Given the description of an element on the screen output the (x, y) to click on. 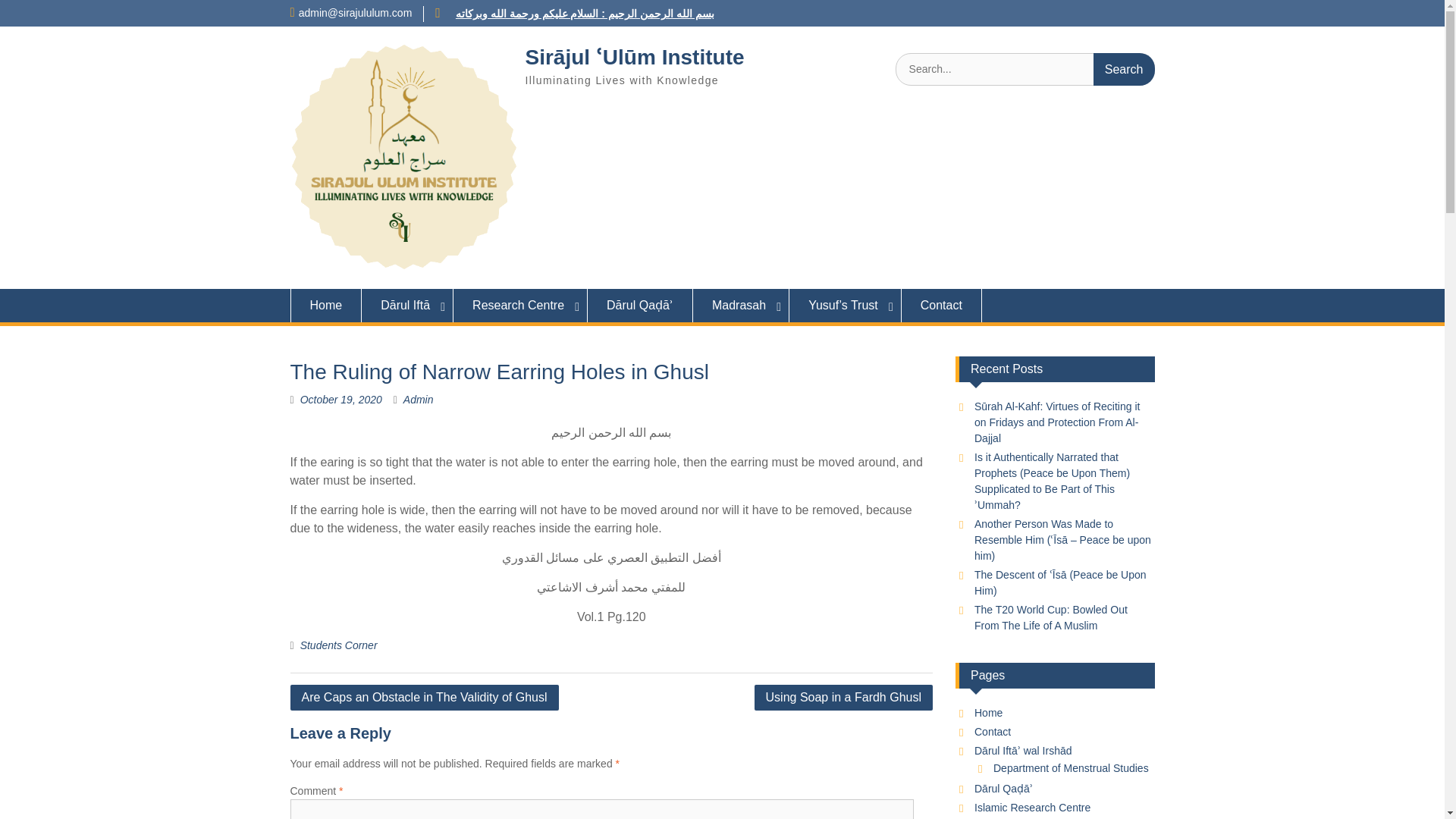
Search for: (1024, 69)
Search (1123, 69)
Search (1123, 69)
Research Centre (520, 305)
Search (1123, 69)
Home (325, 305)
